Given the description of an element on the screen output the (x, y) to click on. 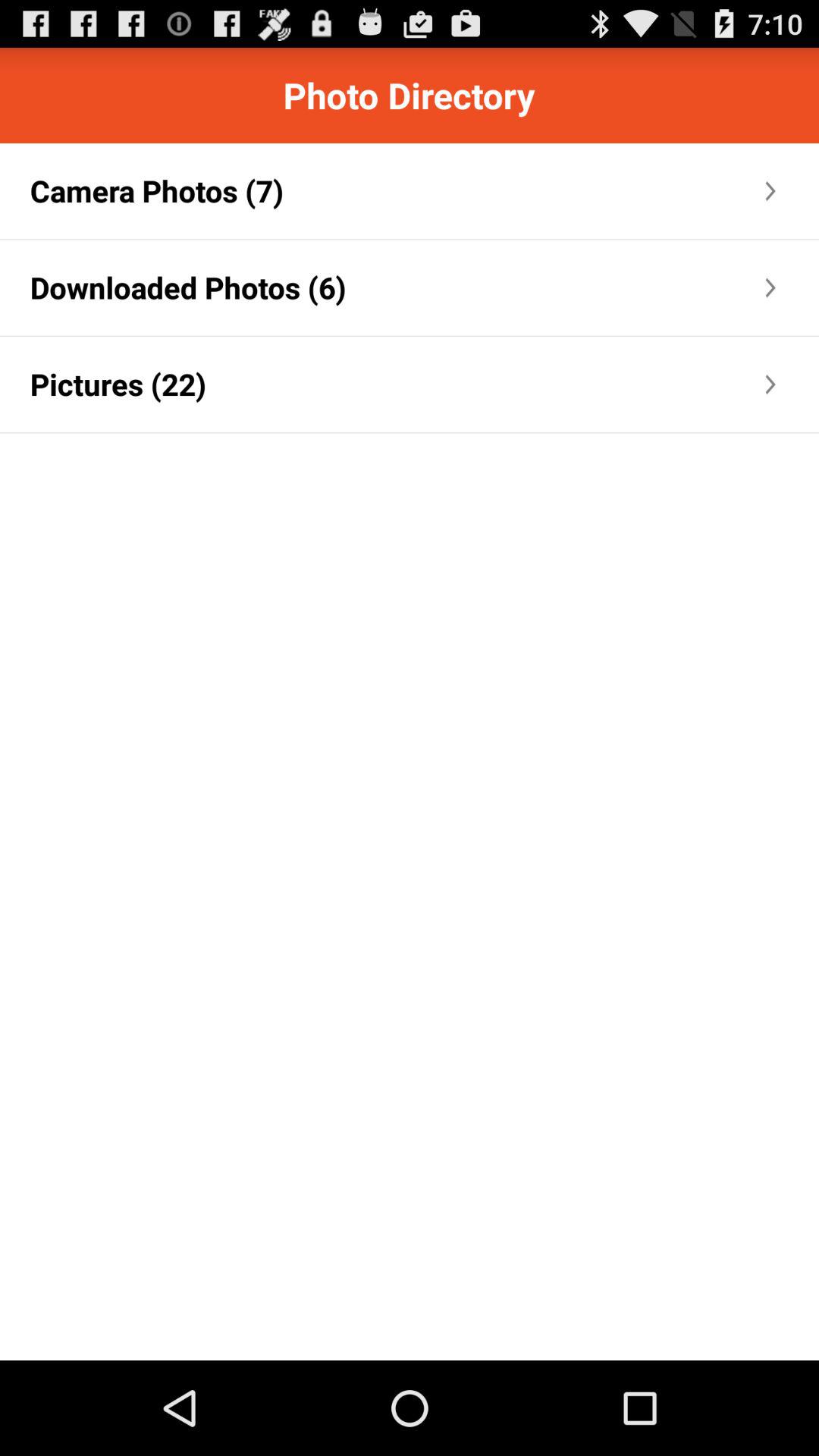
launch the item below the downloaded photos (6) (118, 384)
